Given the description of an element on the screen output the (x, y) to click on. 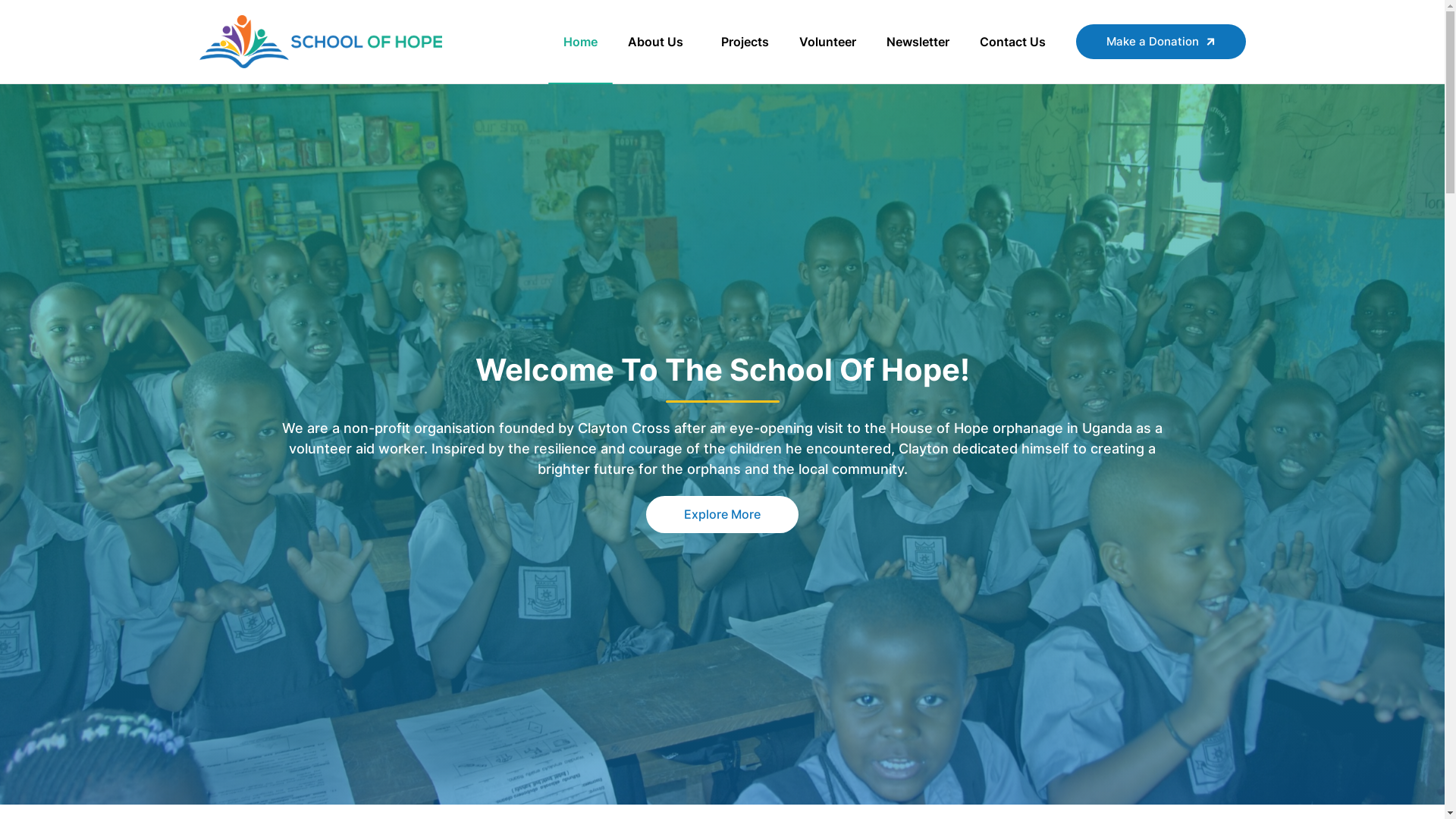
Explore More Element type: text (722, 514)
About Us Element type: text (659, 41)
Projects Element type: text (744, 41)
Make a Donation Element type: text (1160, 41)
Newsletter Element type: text (916, 41)
Home Element type: text (579, 41)
Contact Us Element type: text (1012, 41)
Volunteer Element type: text (827, 41)
